Given the description of an element on the screen output the (x, y) to click on. 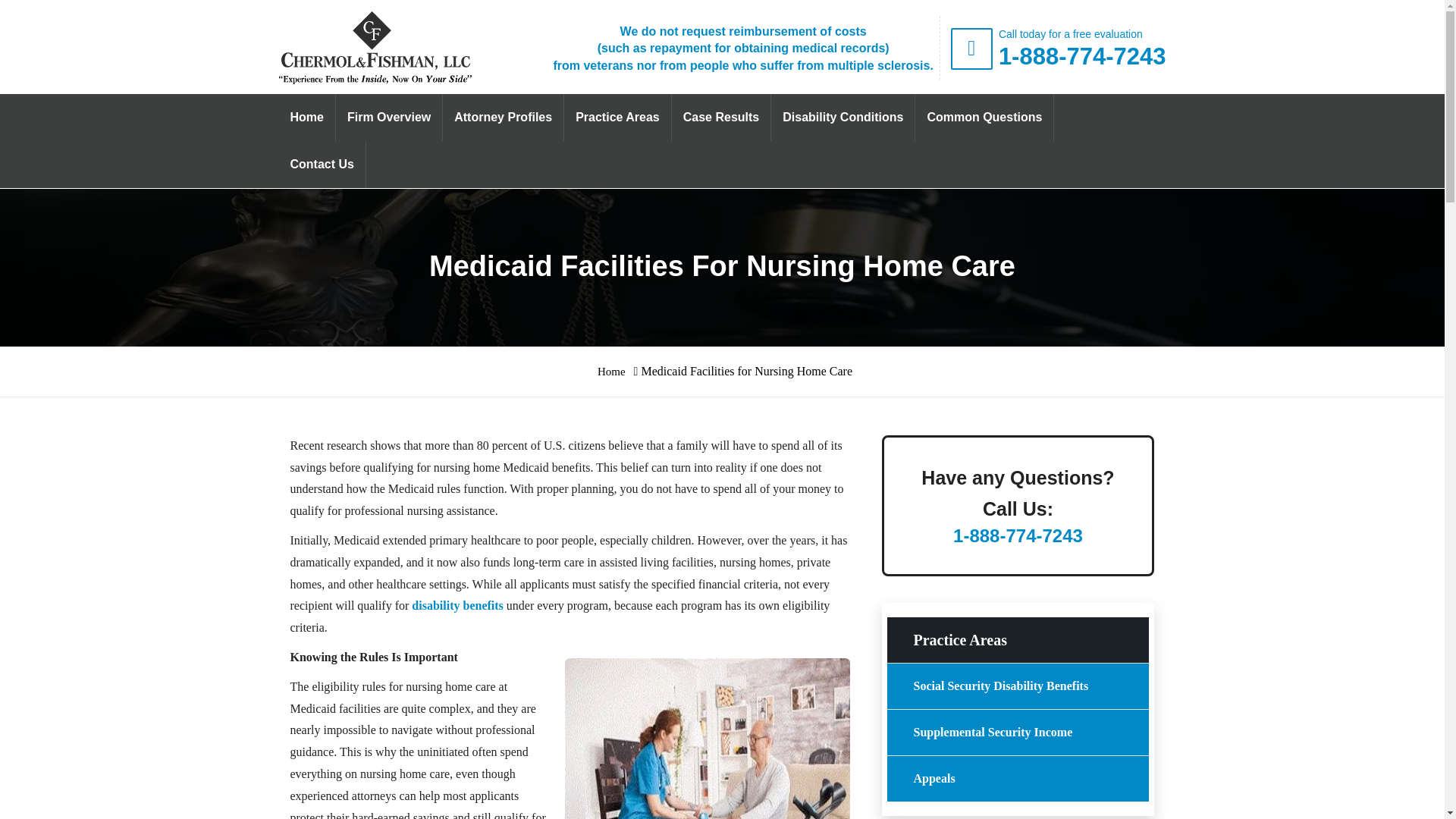
Firm Overview (389, 117)
Home (611, 371)
Contact Us (322, 164)
Disability Conditions (842, 117)
Appeals (1018, 778)
Common Questions (983, 117)
logo (375, 47)
Home (306, 117)
Practice Areas (617, 117)
1-888-774-7243 (1082, 56)
